Given the description of an element on the screen output the (x, y) to click on. 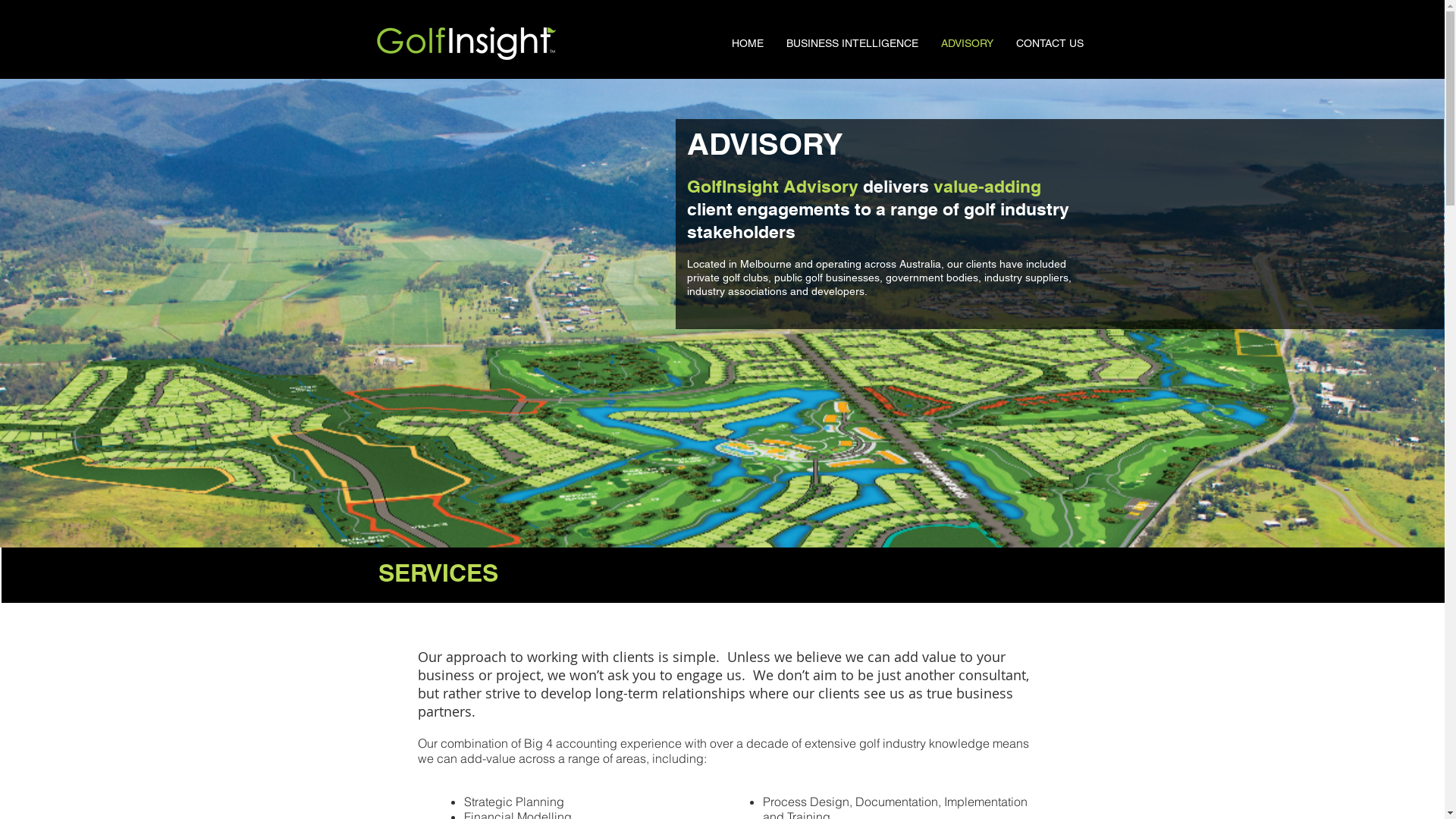
HOME Element type: text (747, 42)
golfinsight-v2.png Element type: hover (465, 42)
ADVISORY Element type: text (966, 42)
Embedded Content Element type: hover (649, 39)
BUSINESS INTELLIGENCE Element type: text (852, 42)
CONTACT US Element type: text (1049, 42)
